Given the description of an element on the screen output the (x, y) to click on. 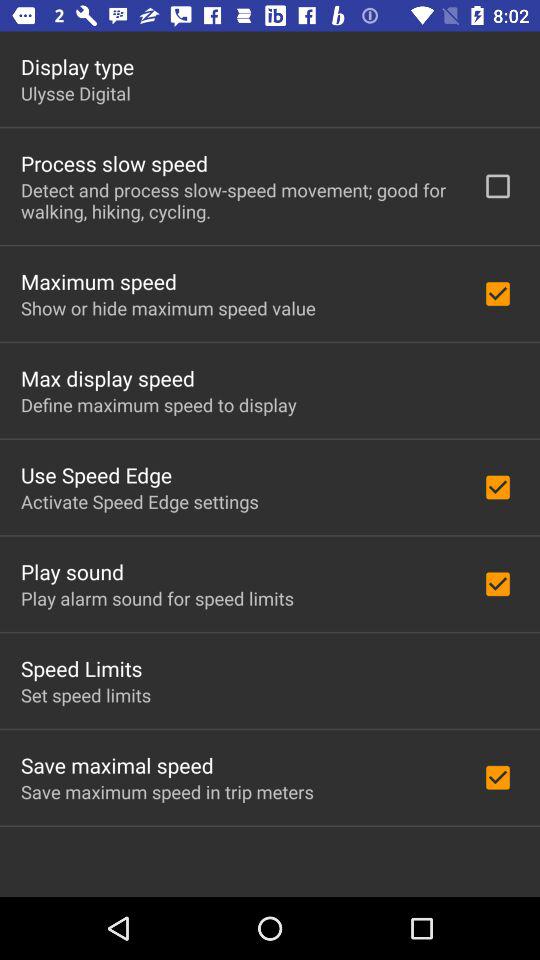
press app above the save maximum speed (117, 765)
